Given the description of an element on the screen output the (x, y) to click on. 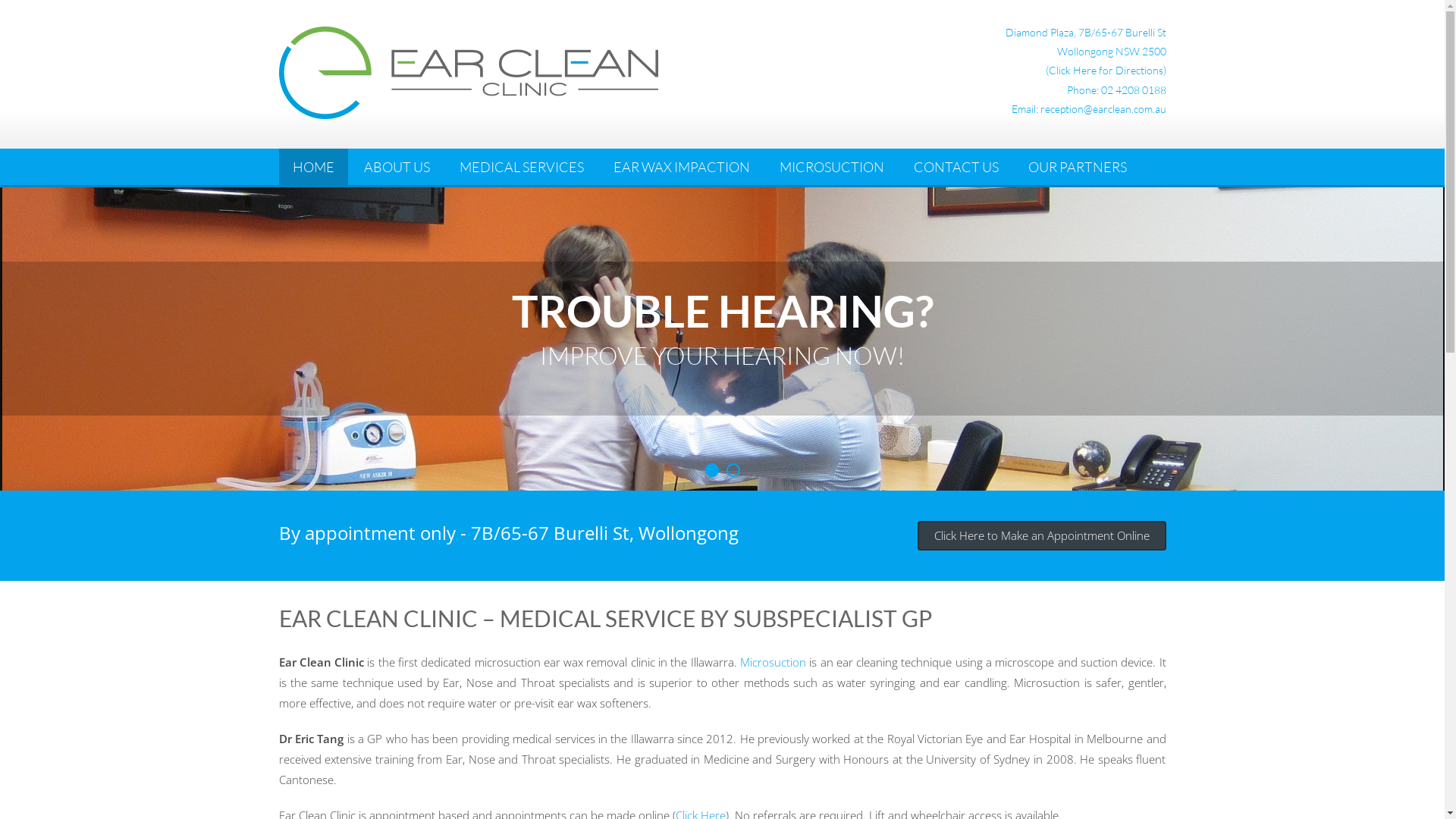
2 Element type: text (733, 469)
MICROSUCTION Element type: text (831, 166)
Microsuction Element type: text (773, 661)
HOME Element type: text (313, 166)
EAR WAX IMPACTION Element type: text (680, 166)
CONTACT US Element type: text (955, 166)
MEDICAL SERVICES Element type: text (521, 166)
Click Here for Directions Element type: text (1105, 69)
1 Element type: text (711, 469)
OUR PARTNERS Element type: text (1077, 166)
Click Here to Make an Appointment Online Element type: text (1041, 535)
ABOUT US Element type: text (396, 166)
